Given the description of an element on the screen output the (x, y) to click on. 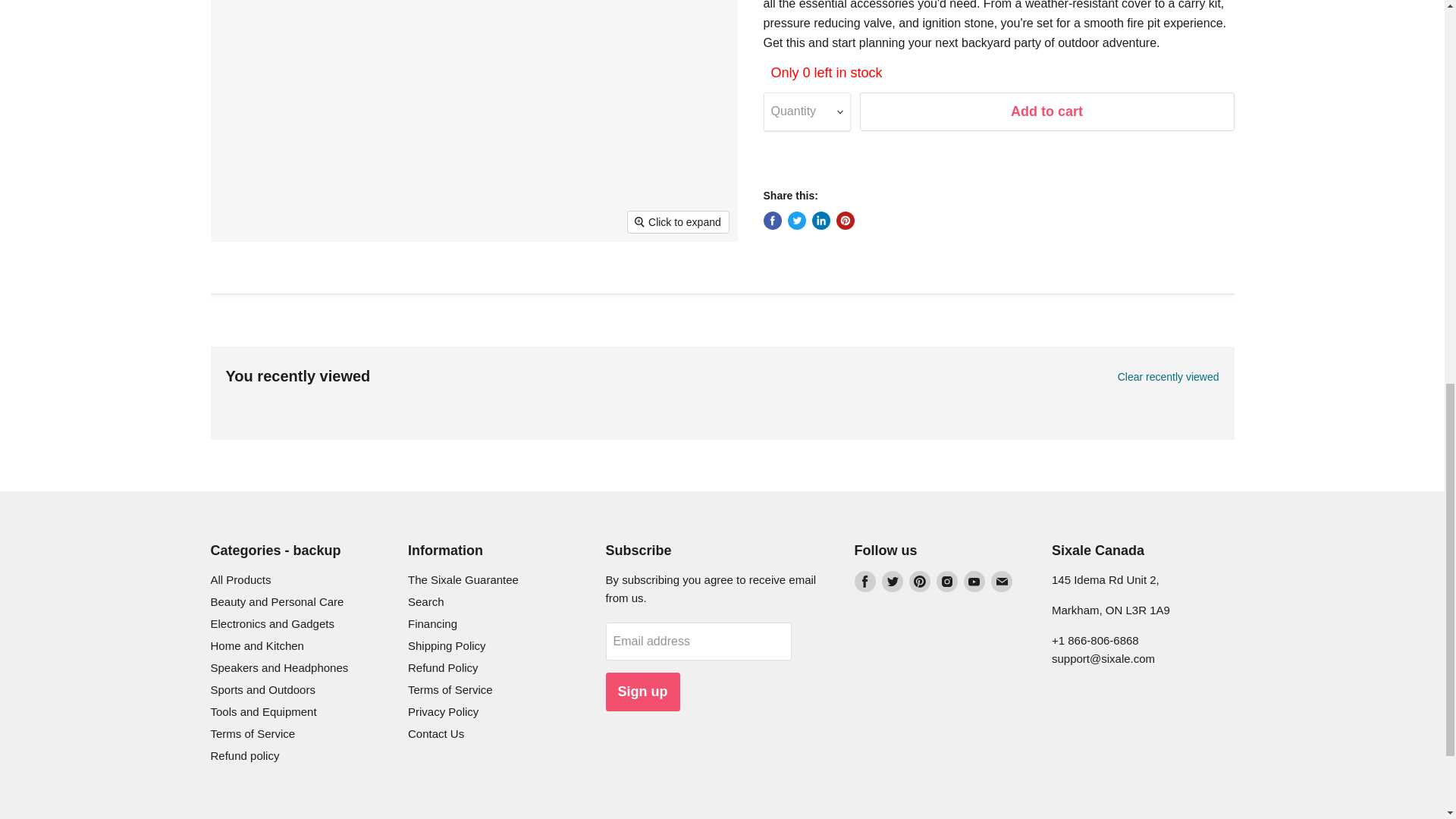
Youtube (973, 581)
Instagram (946, 581)
Email (1000, 581)
Twitter (891, 581)
Pinterest (919, 581)
Facebook (864, 581)
